Given the description of an element on the screen output the (x, y) to click on. 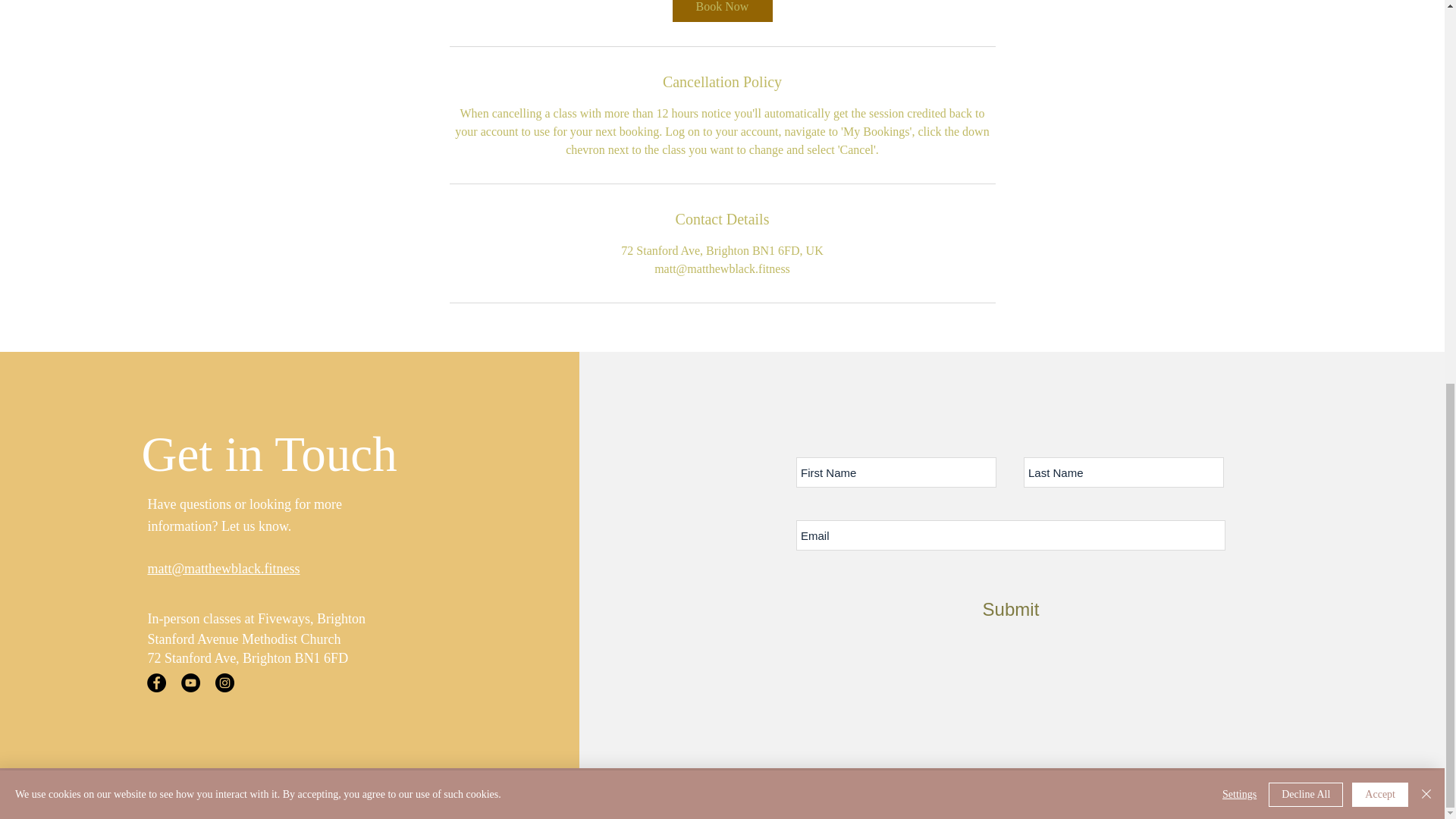
Submit (1010, 608)
Decline All (1305, 74)
Book Now (721, 11)
Accept (1379, 74)
